Given the description of an element on the screen output the (x, y) to click on. 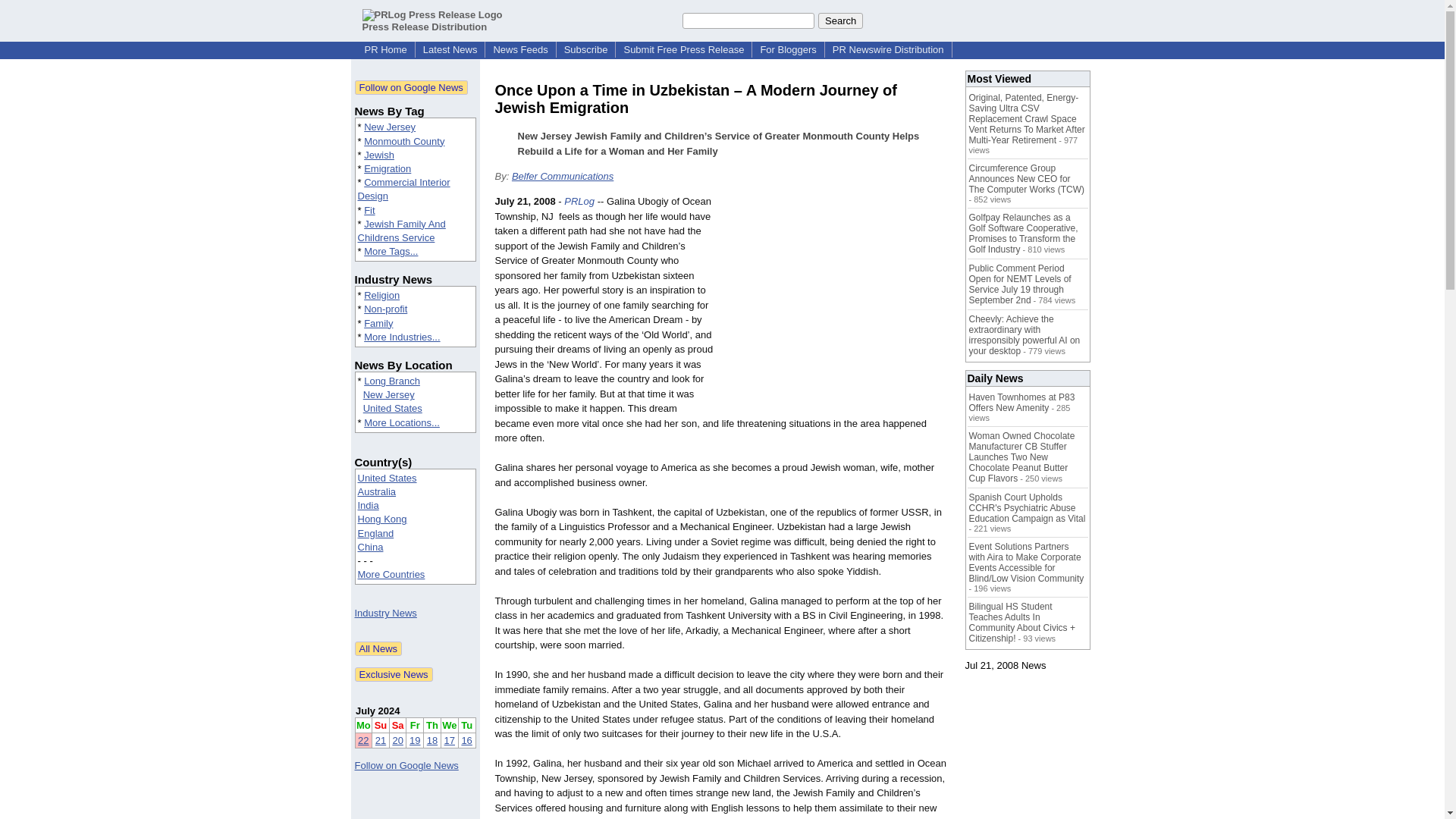
July 2024 (377, 710)
21 (380, 740)
More Countries (391, 573)
Exclusive News (393, 674)
Monmouth County (404, 141)
Jewish Family And Childrens Service (401, 230)
Hong Kong (382, 518)
Emigration (387, 168)
China (371, 546)
New Jersey (389, 126)
More Locations... (401, 422)
News Feeds (519, 49)
Family (378, 323)
Long Branch (392, 380)
Follow on Google News (411, 87)
